Given the description of an element on the screen output the (x, y) to click on. 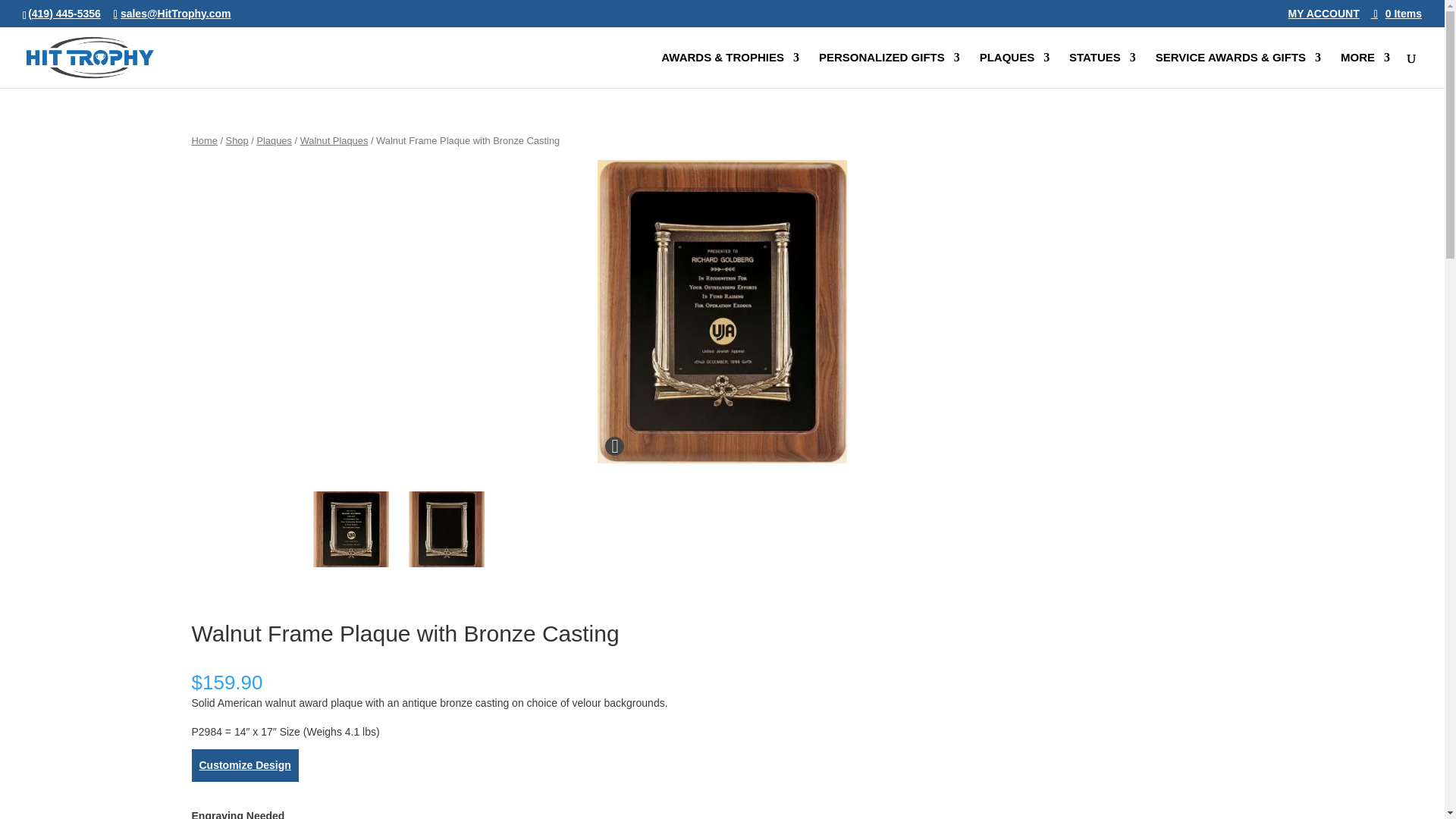
PERSONALIZED GIFTS (888, 69)
P2984 Walnut Frame Plaque (350, 529)
P2984 Walnut Frame Plaque (446, 529)
PLAQUES (1014, 69)
STATUES (1101, 69)
Expand the image (614, 445)
MY ACCOUNT (1323, 13)
0 Items (1396, 13)
